Given the description of an element on the screen output the (x, y) to click on. 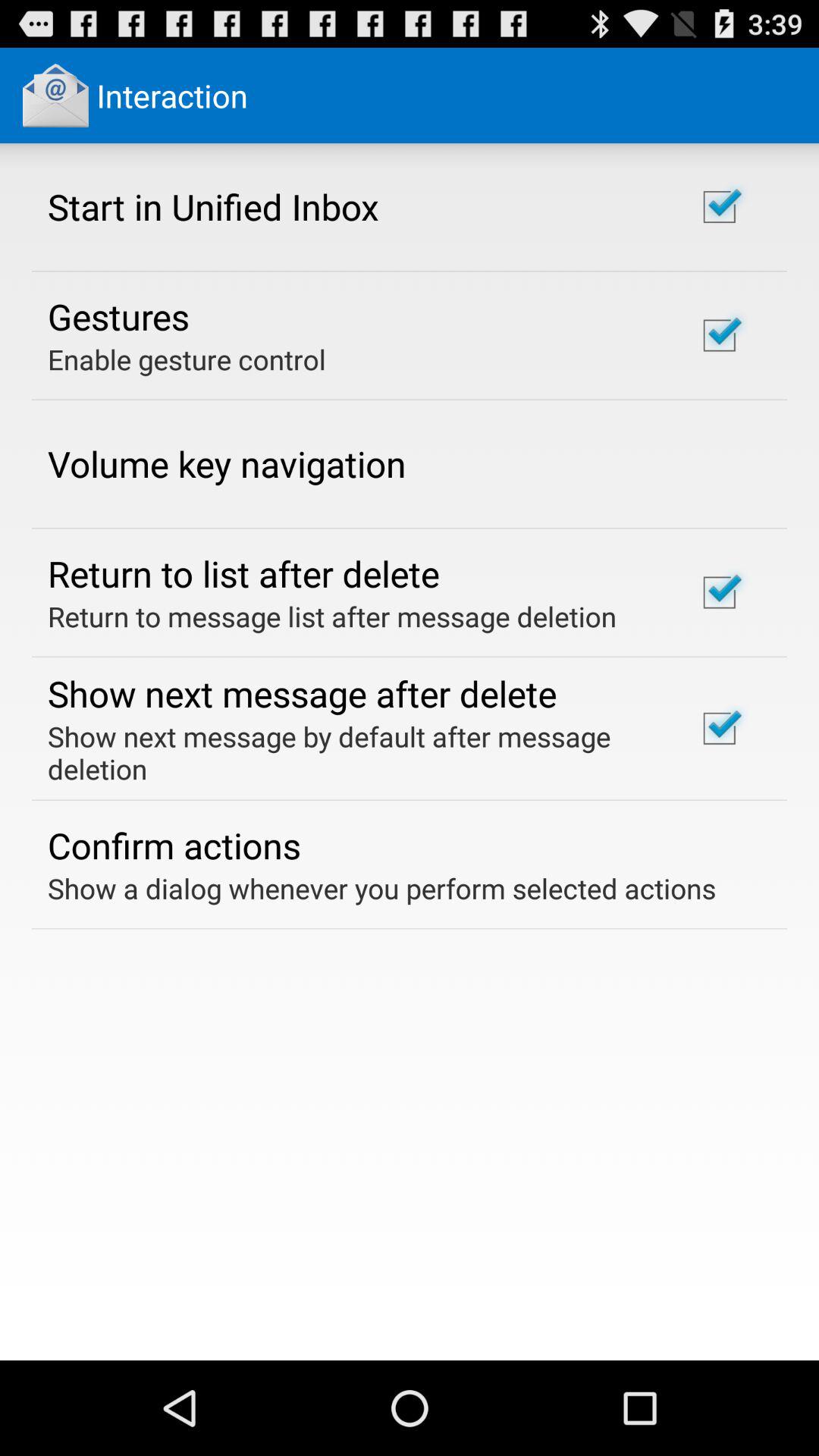
press the confirm actions icon (173, 845)
